Given the description of an element on the screen output the (x, y) to click on. 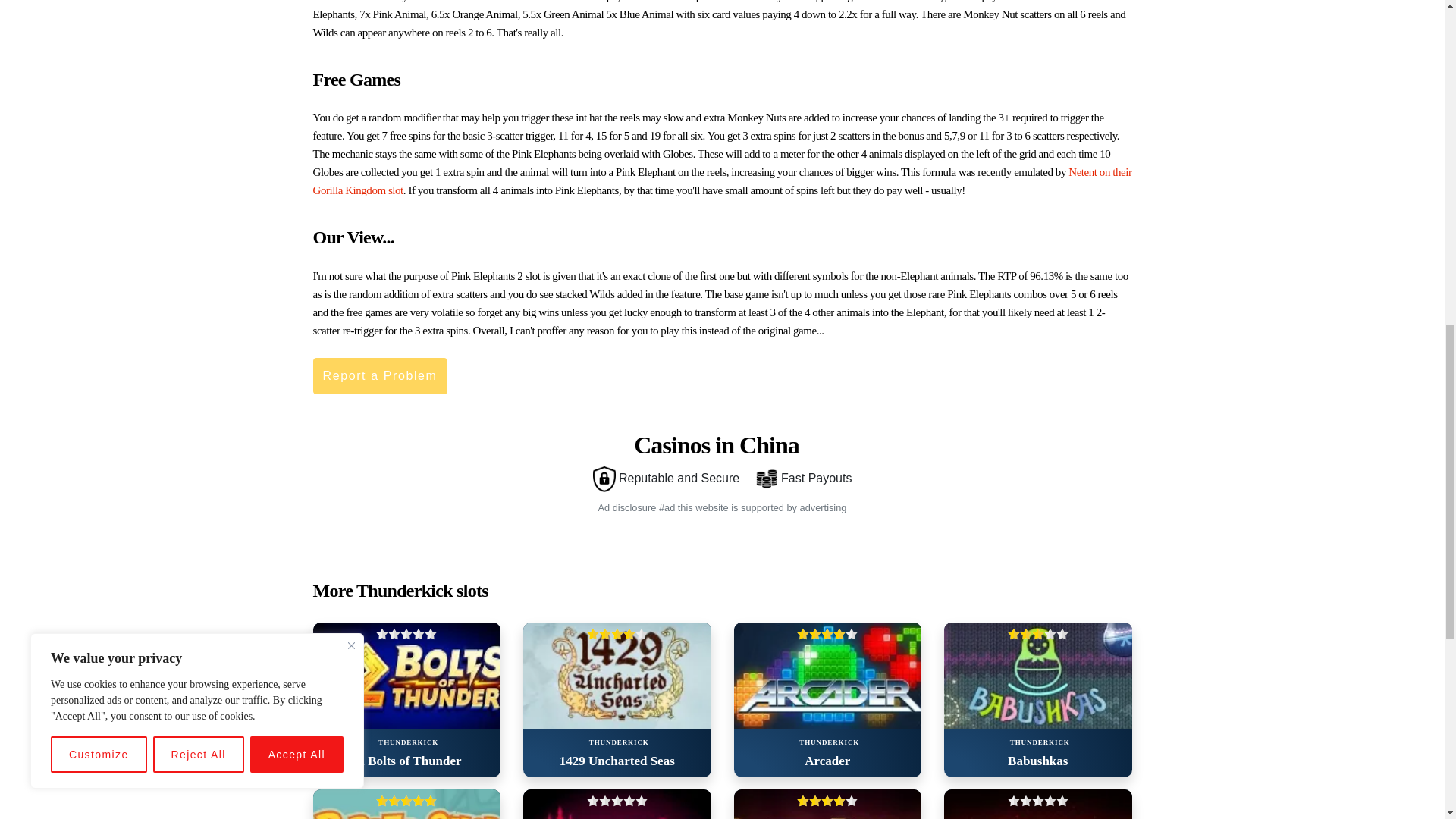
Arcader slot (827, 675)
Babushkas slot (1037, 675)
12 Bolts of Thunder slot (406, 675)
1429 Uncharted Seas slot (616, 675)
Netent on their Gorilla Kingdom slot (722, 181)
